Given the description of an element on the screen output the (x, y) to click on. 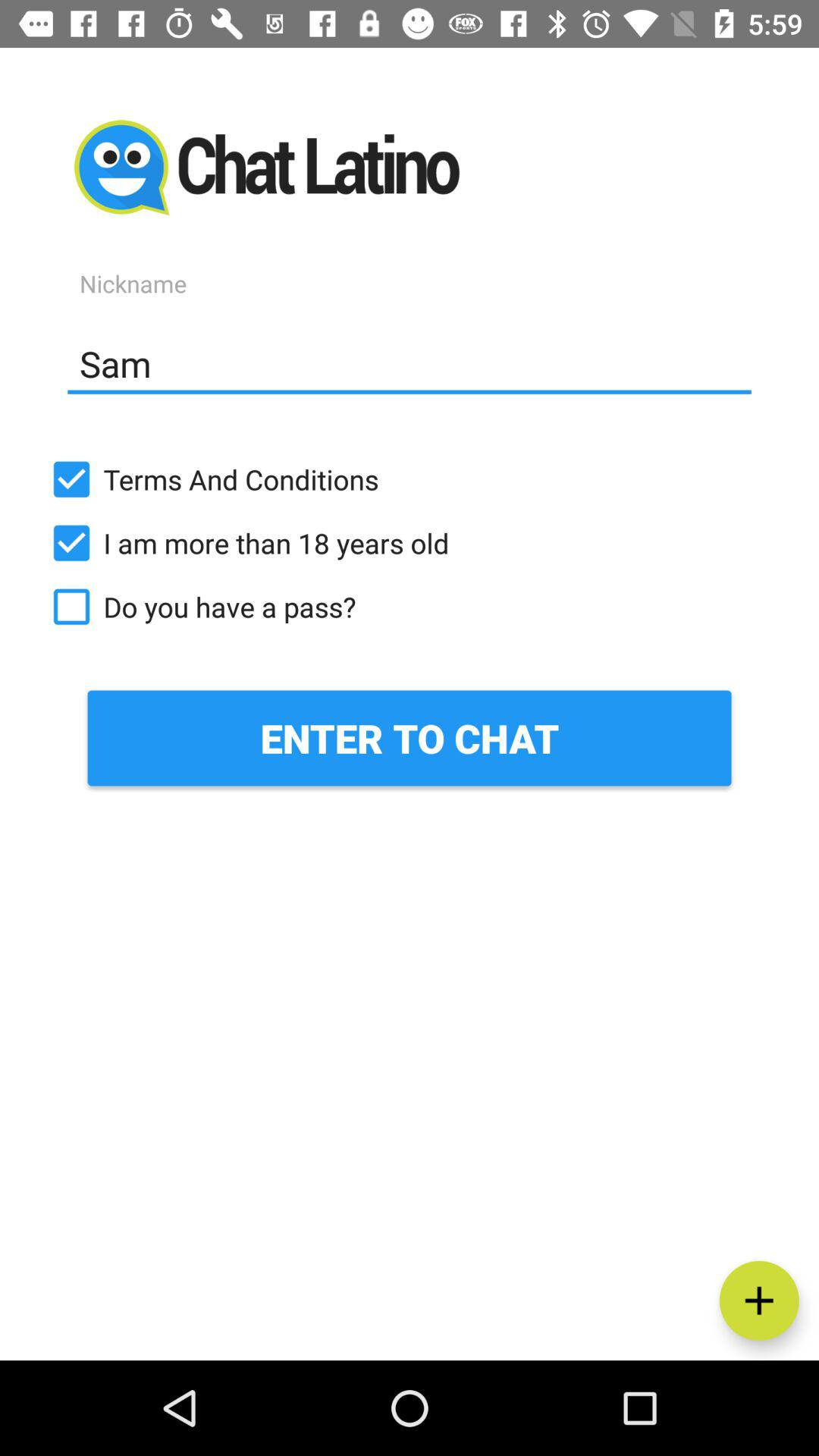
tap item below the do you have icon (409, 737)
